Given the description of an element on the screen output the (x, y) to click on. 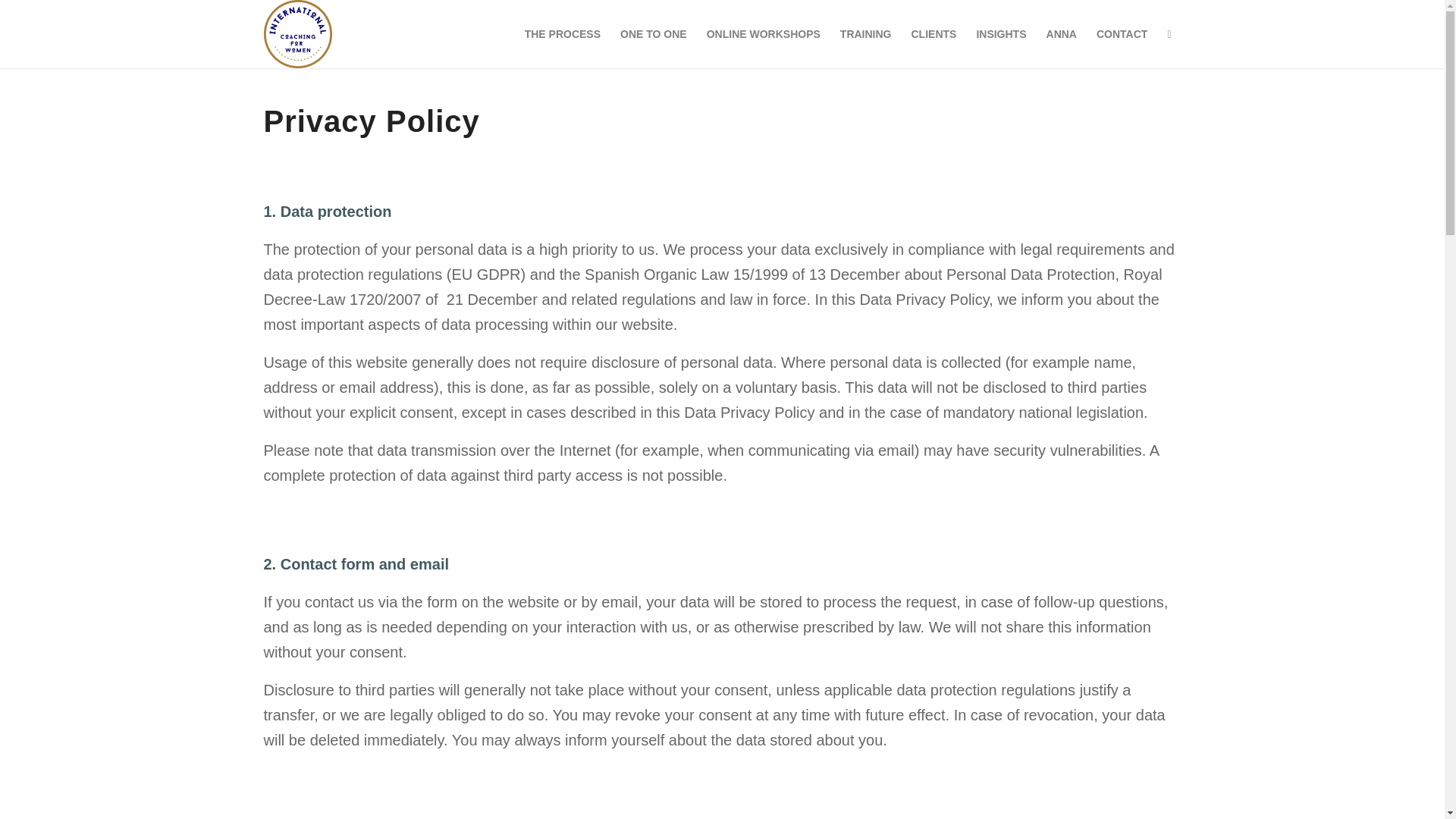
ANNA (1061, 33)
INSIGHTS (1000, 33)
ONLINE WORKSHOPS (763, 33)
TRAINING (865, 33)
ONE TO ONE (653, 33)
CLIENTS (933, 33)
THE PROCESS (562, 33)
CONTACT (1121, 33)
